Given the description of an element on the screen output the (x, y) to click on. 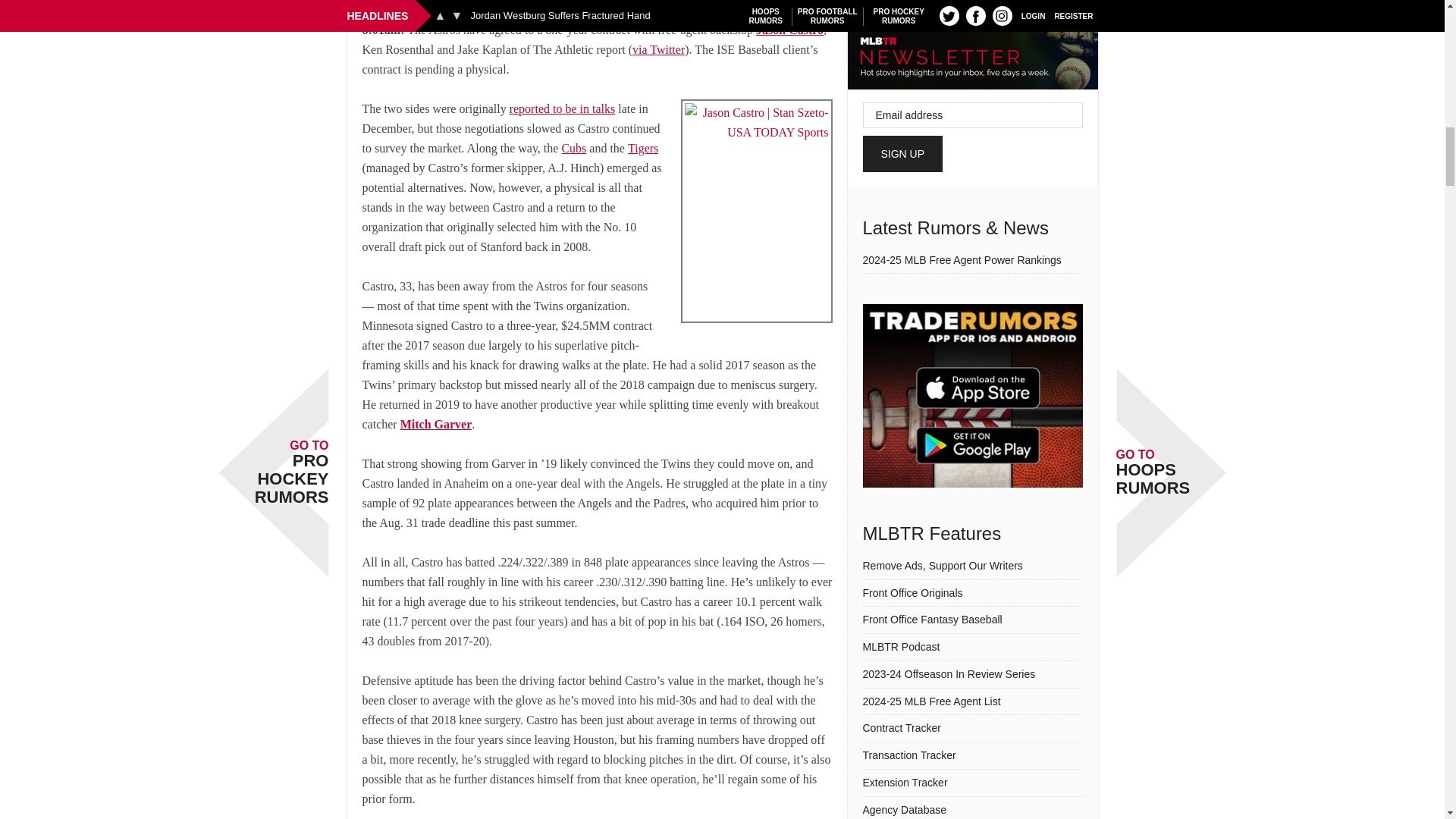
Sign Up (903, 153)
